Given the description of an element on the screen output the (x, y) to click on. 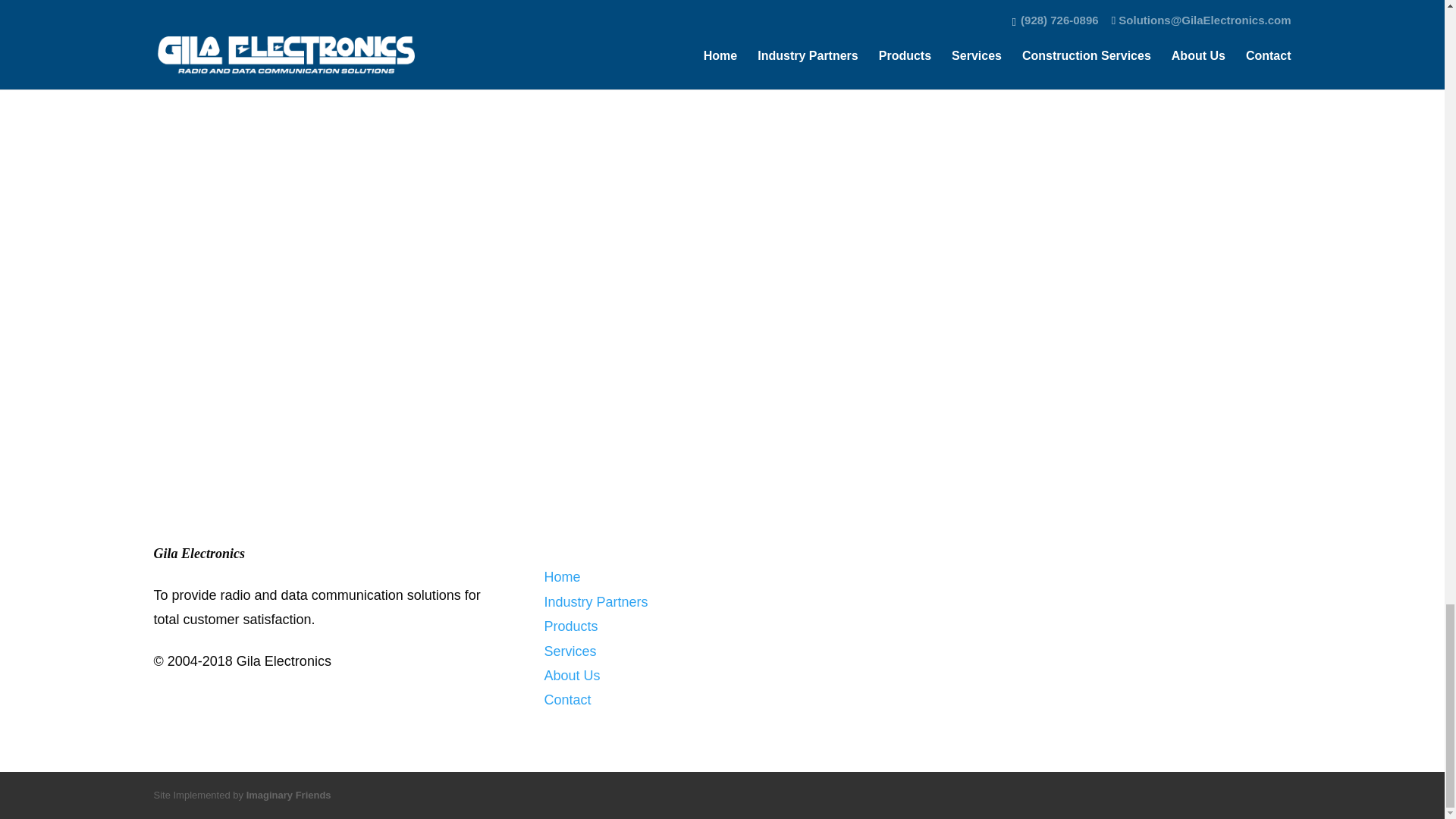
Products (569, 626)
Services (569, 651)
Imaginary Friends (288, 794)
Home (561, 576)
Contact (567, 699)
About Us (571, 675)
Contact Us (722, 357)
Industry Partners (595, 601)
